Given the description of an element on the screen output the (x, y) to click on. 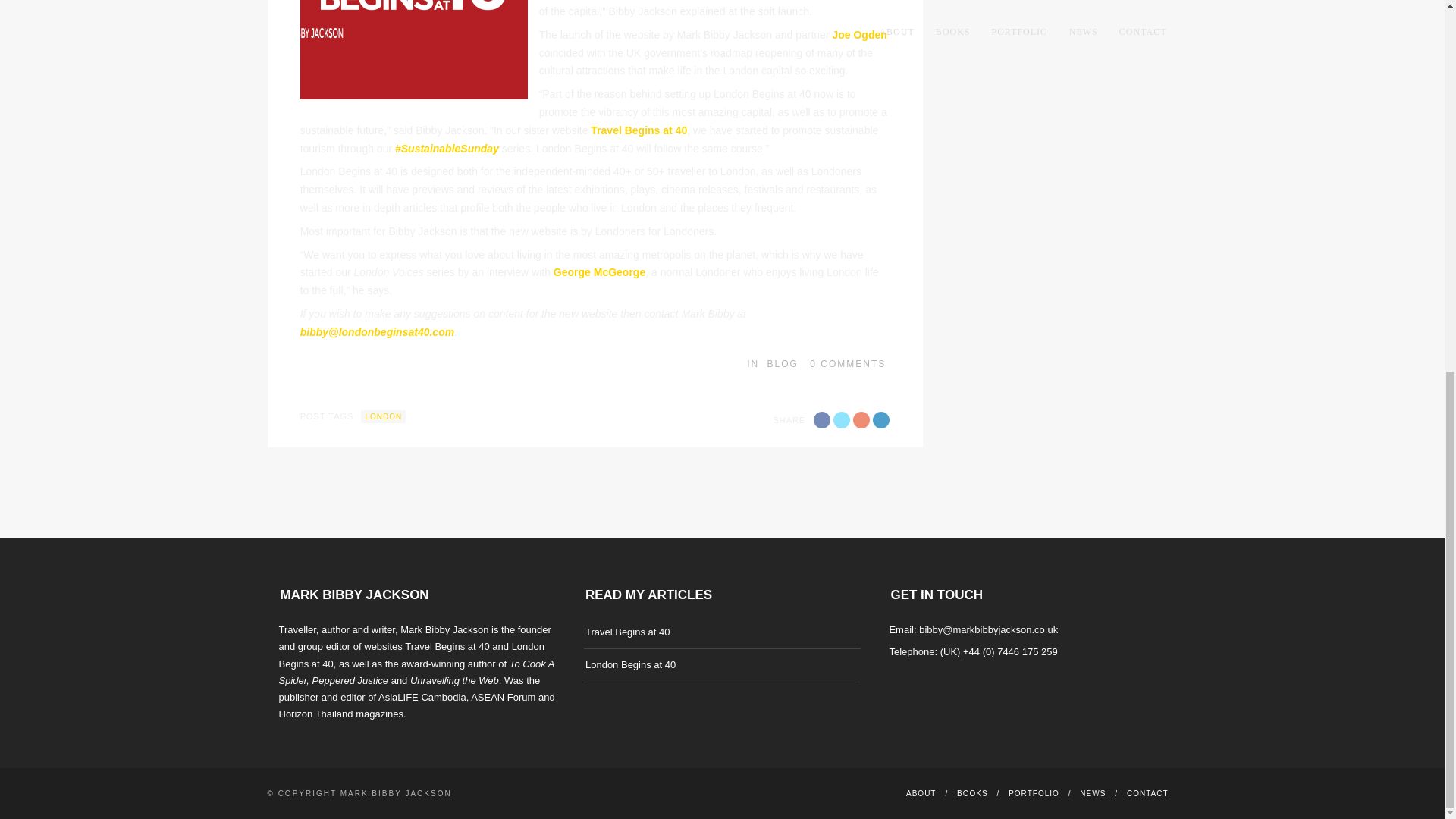
LONDON (383, 416)
Twitter (901, 696)
Travel Begins at 40 (639, 130)
NEWS (1092, 793)
Facebook (821, 419)
LinkedIn (942, 696)
CONTACT (1147, 793)
Twitter (841, 419)
Pinterest (861, 419)
George McGeorge (599, 272)
